Given the description of an element on the screen output the (x, y) to click on. 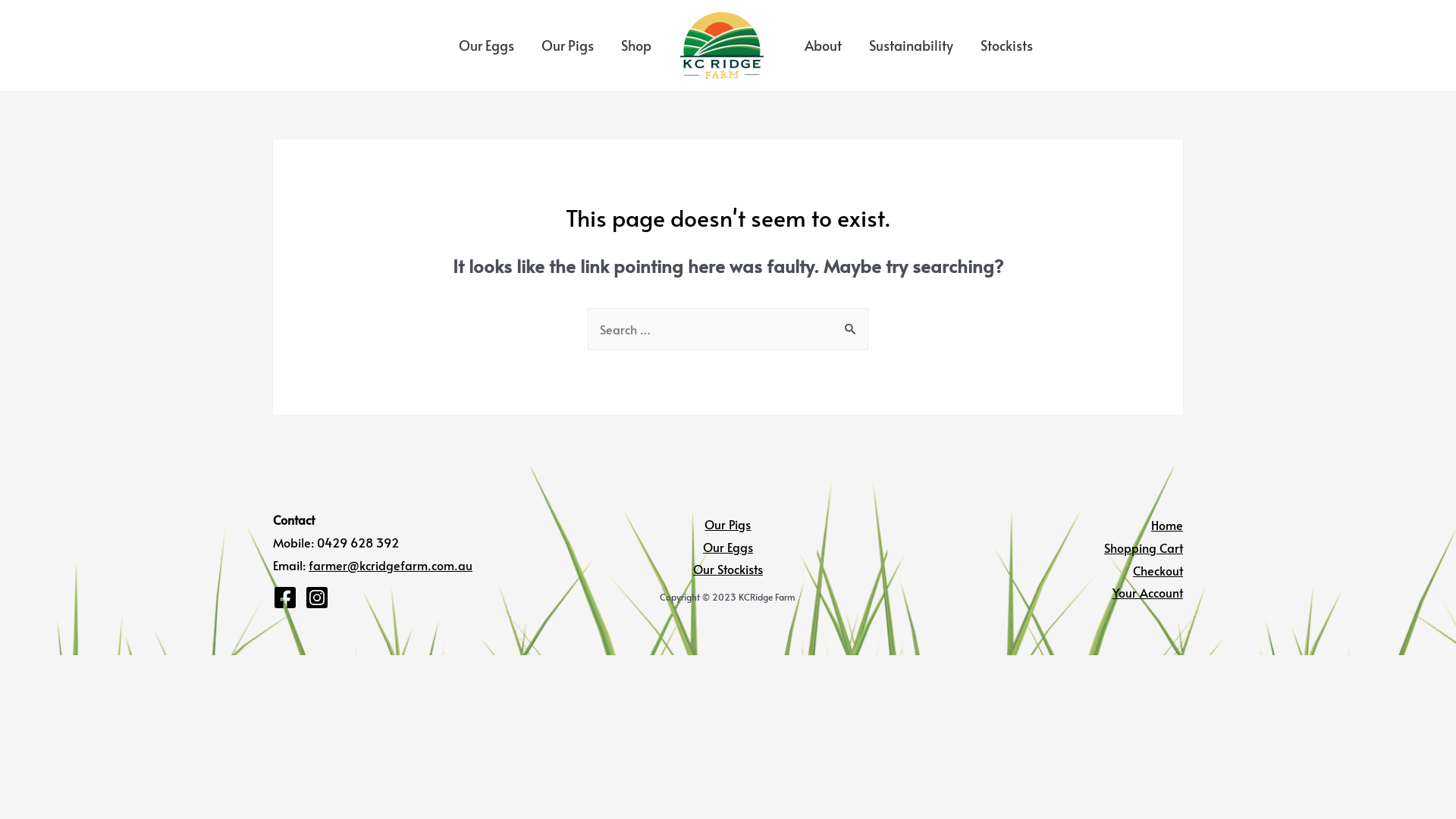
Stockists Element type: text (1006, 45)
Sustainability Element type: text (910, 45)
Checkout Element type: text (1157, 569)
Our Stockists Element type: text (727, 568)
Shop Element type: text (636, 45)
Your Account Element type: text (1147, 591)
Home Element type: text (1167, 524)
Our Eggs Element type: text (727, 546)
Shopping Cart Element type: text (1143, 547)
Our Eggs Element type: text (486, 45)
Our Pigs Element type: text (727, 523)
Our Pigs Element type: text (567, 45)
About Element type: text (822, 45)
farmer@kcridgefarm.com.au Element type: text (390, 564)
Search Element type: text (851, 323)
